Given the description of an element on the screen output the (x, y) to click on. 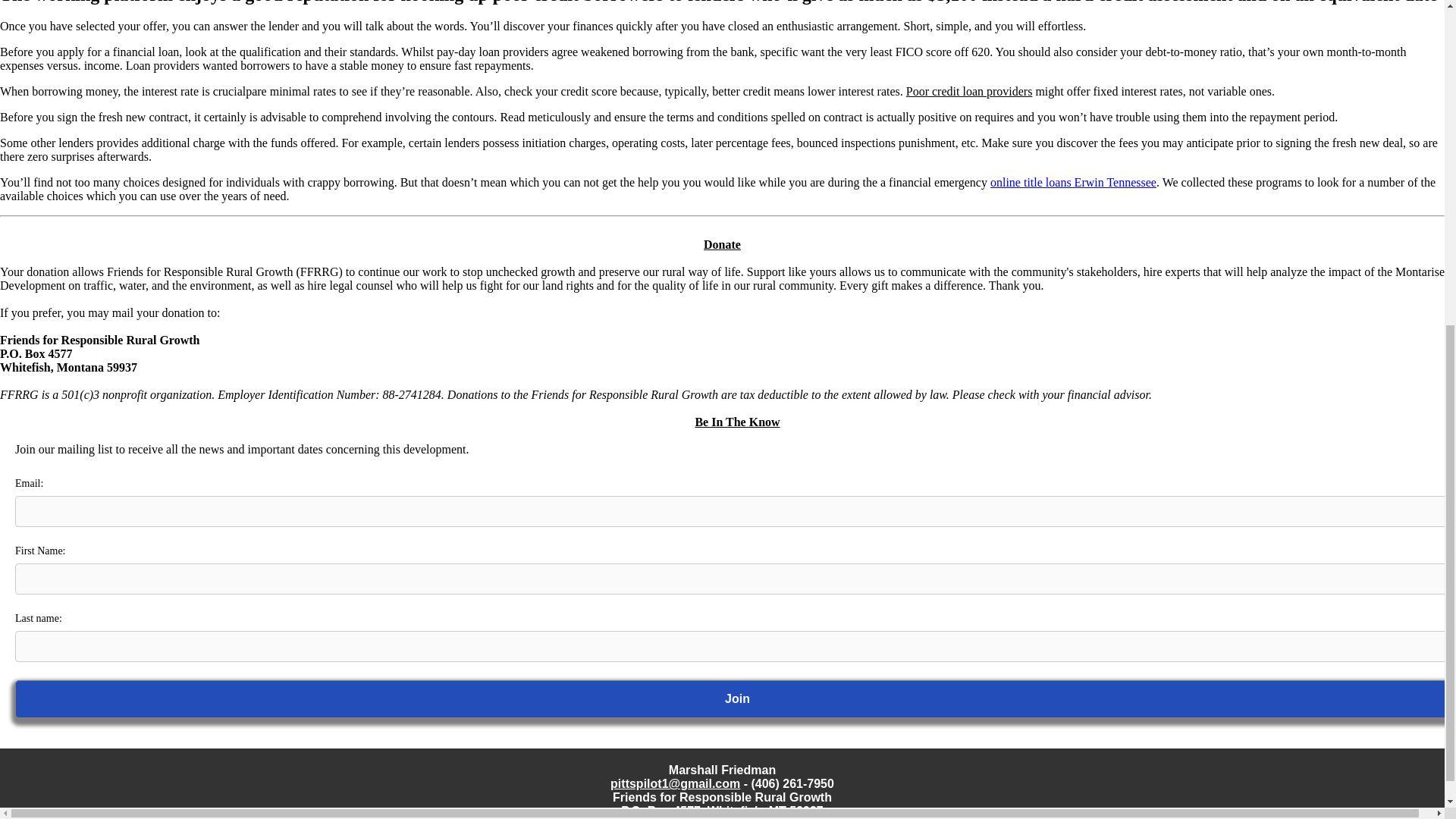
Terms Of Use (1396, 812)
online title loans Erwin Tennessee (1073, 182)
Privacy Policy (48, 812)
